Given the description of an element on the screen output the (x, y) to click on. 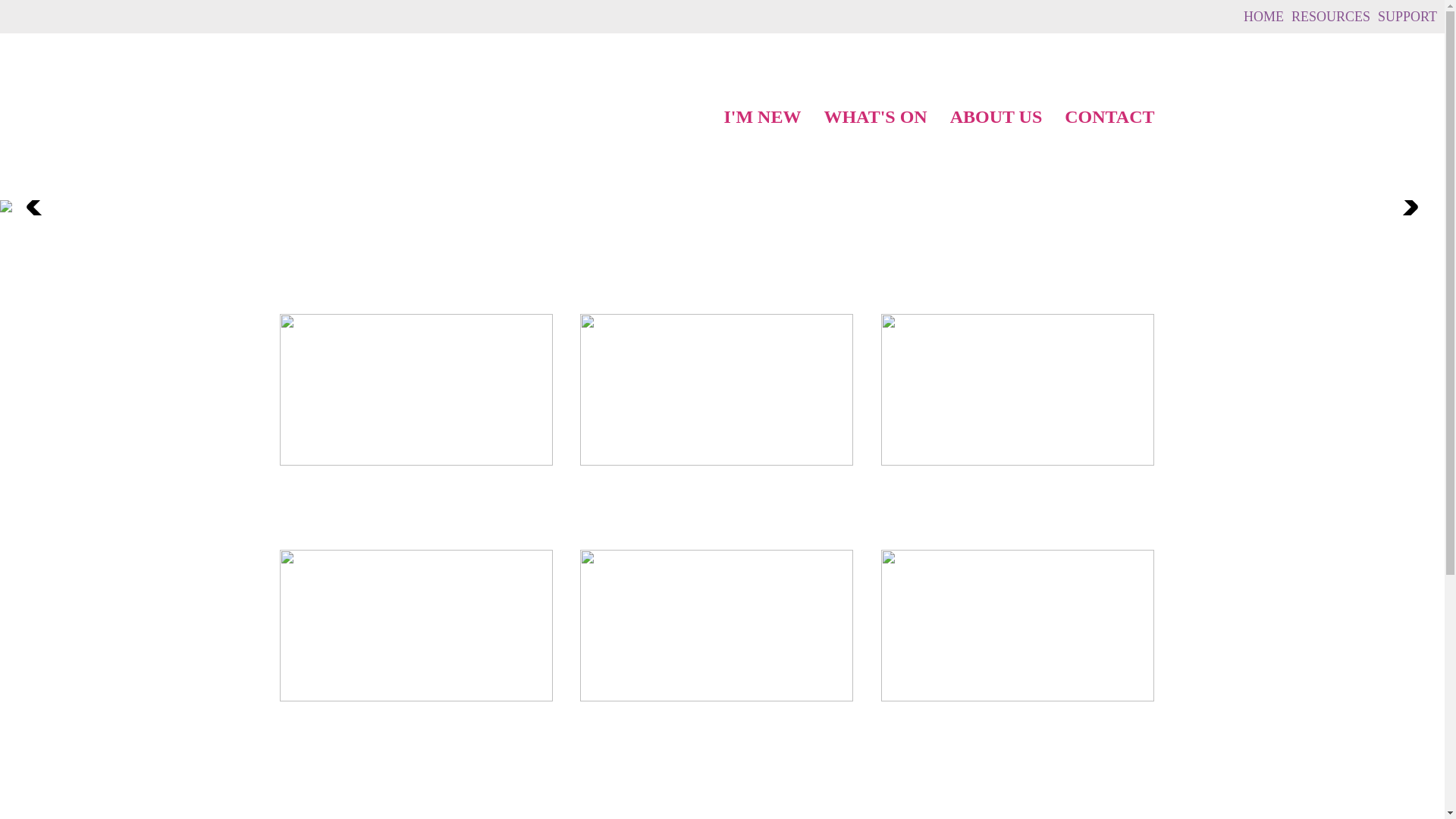
ABOUT US Element type: text (996, 116)
About Us Element type: text (421, 724)
What's On Element type: text (721, 724)
RESOURCES Element type: text (1334, 16)
WHAT'S ON Element type: text (875, 116)
I'm New Element type: text (721, 489)
Get Connected Element type: text (1022, 489)
CONTACT Element type: text (1109, 116)
HOME Element type: text (1267, 16)
SUPPORT Element type: text (1410, 16)
Subbies Stories Element type: text (421, 489)
I'M NEW Element type: text (762, 116)
Resources Element type: text (1022, 724)
